Given the description of an element on the screen output the (x, y) to click on. 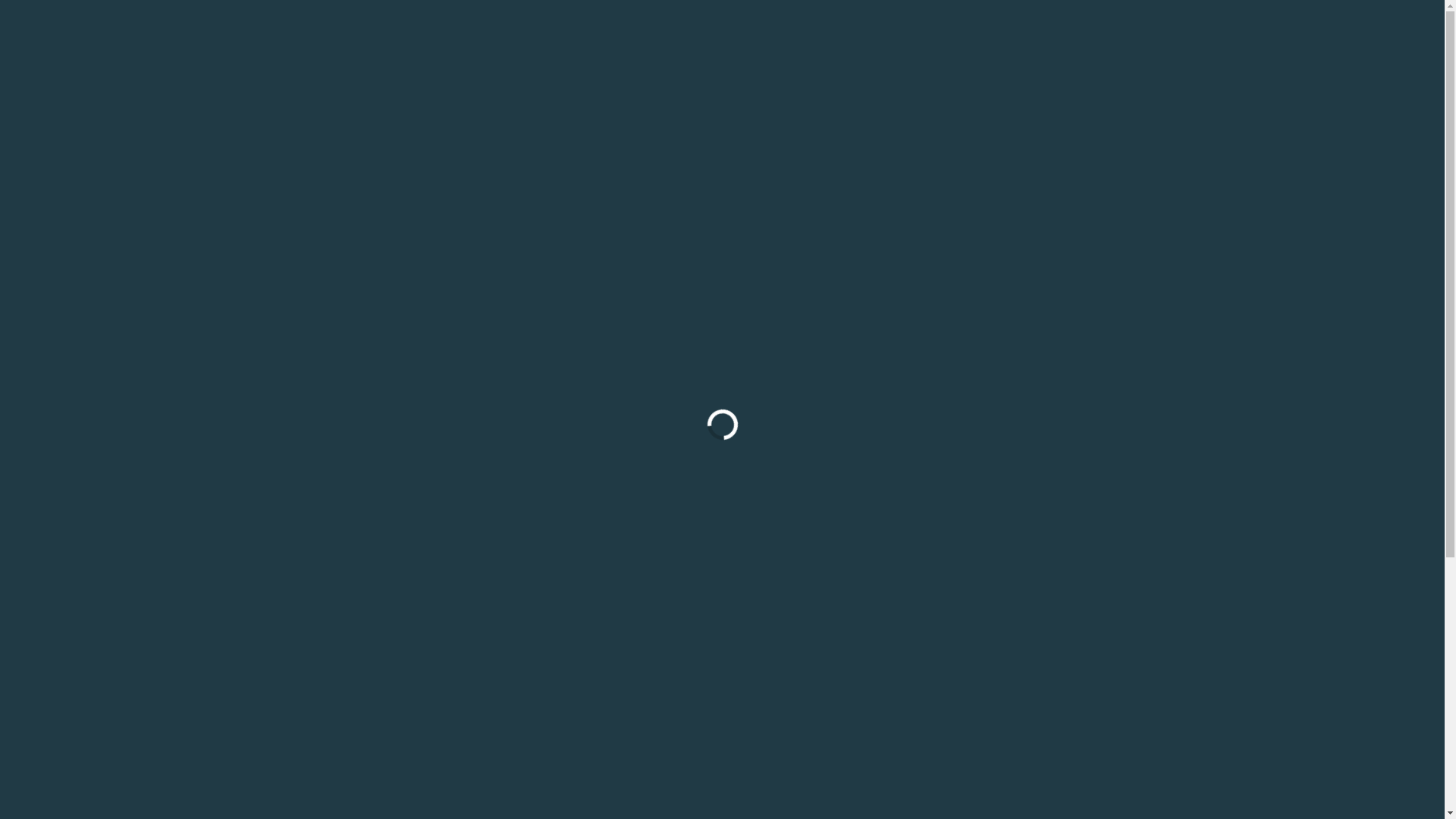
+375 (29) 360 35 61 Element type: text (248, 138)
